Given the description of an element on the screen output the (x, y) to click on. 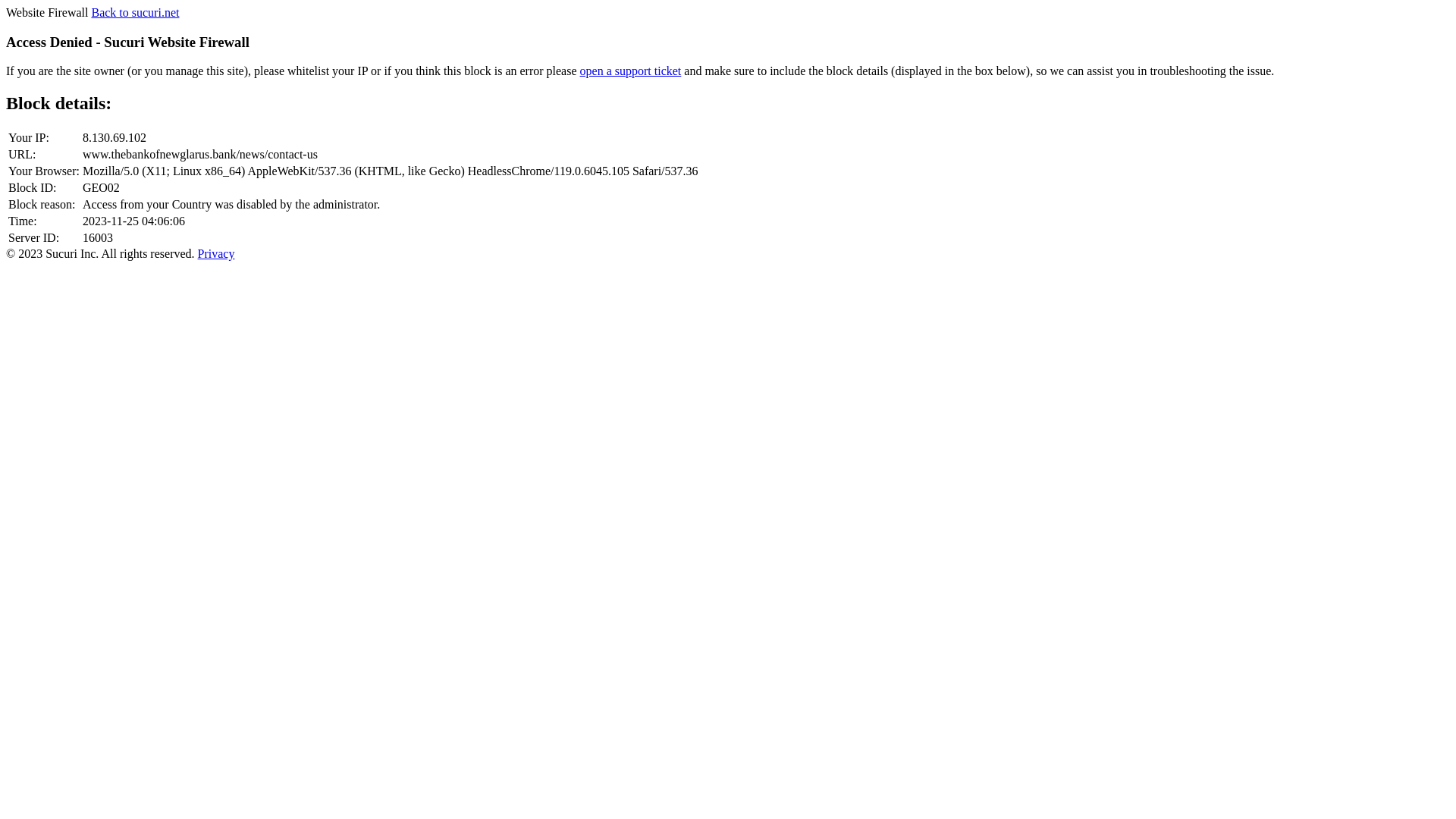
Privacy Element type: text (216, 253)
open a support ticket Element type: text (630, 70)
Back to sucuri.net Element type: text (134, 12)
